Given the description of an element on the screen output the (x, y) to click on. 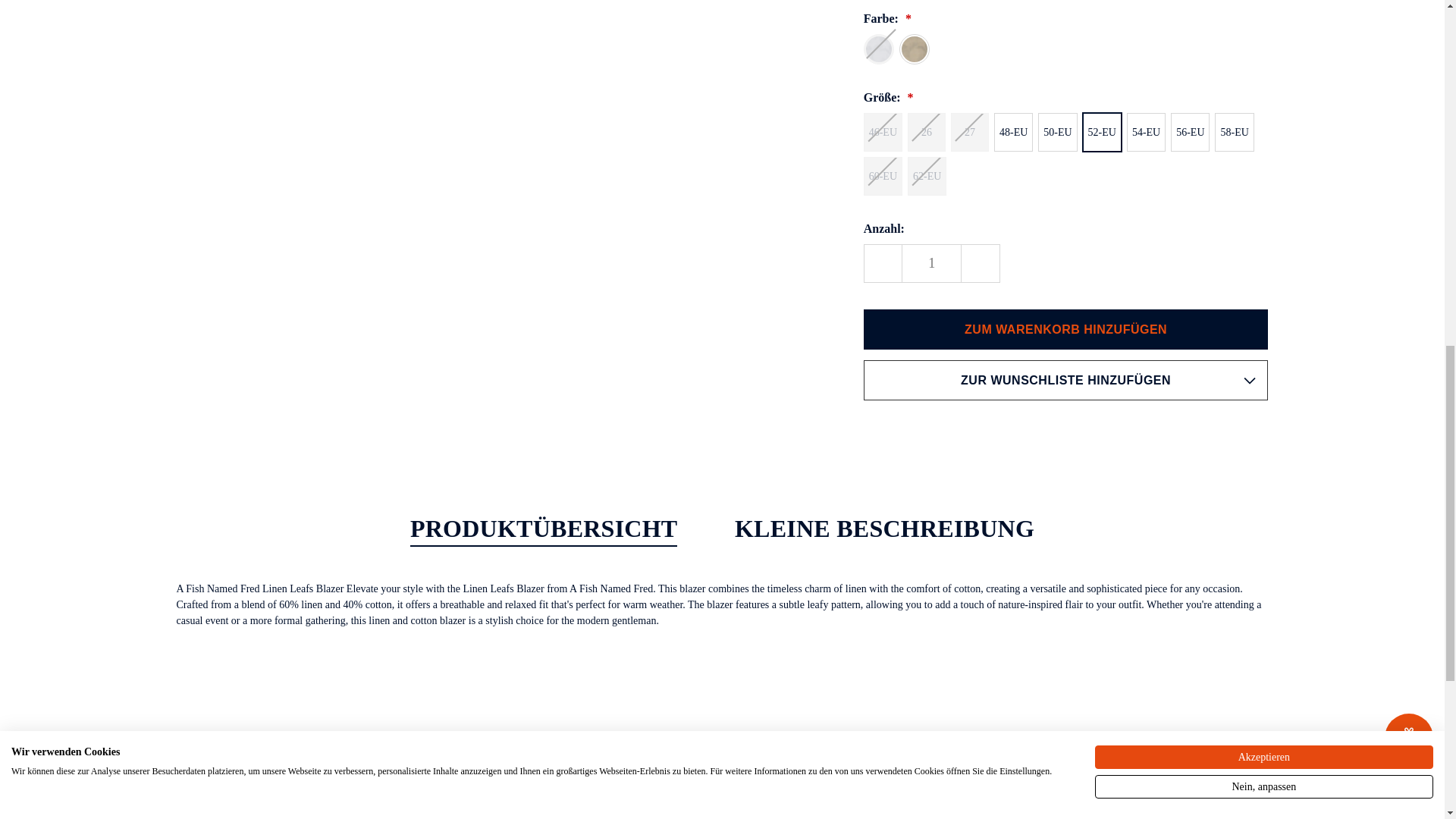
Sand (914, 49)
1 (931, 262)
Jeans Blue (878, 49)
